Given the description of an element on the screen output the (x, y) to click on. 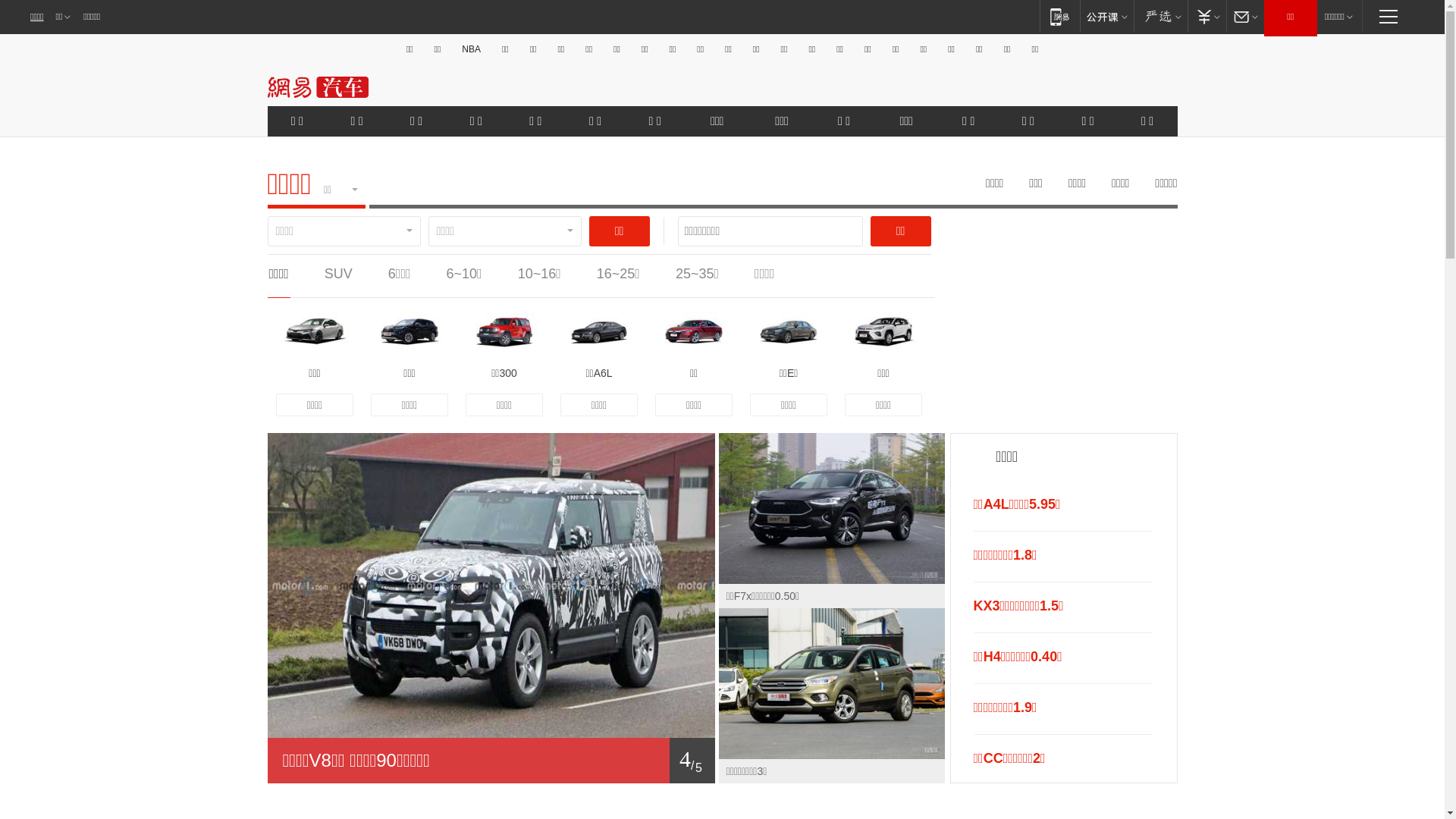
NBA Element type: text (471, 48)
SUV Element type: text (338, 273)
1/ 5 Element type: text (490, 760)
